Given the description of an element on the screen output the (x, y) to click on. 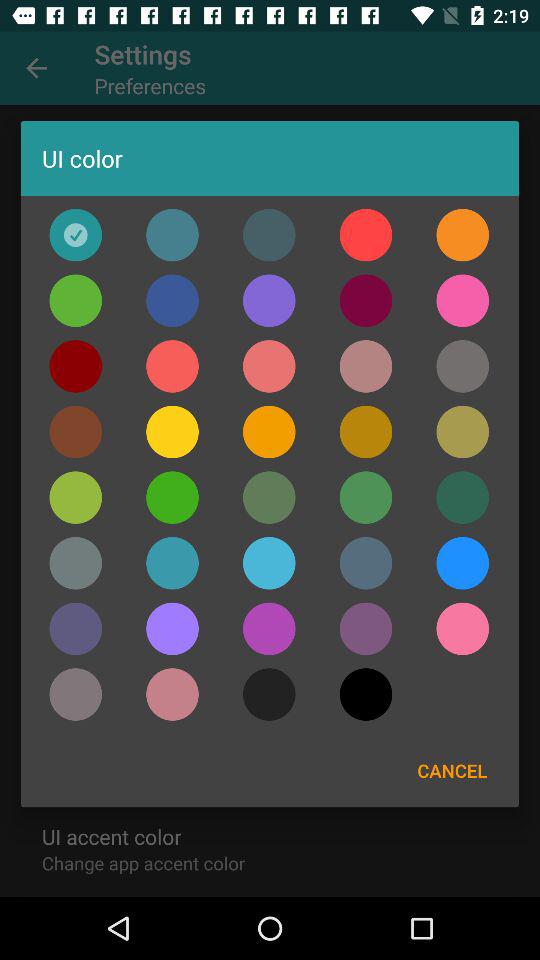
select the color (75, 431)
